Given the description of an element on the screen output the (x, y) to click on. 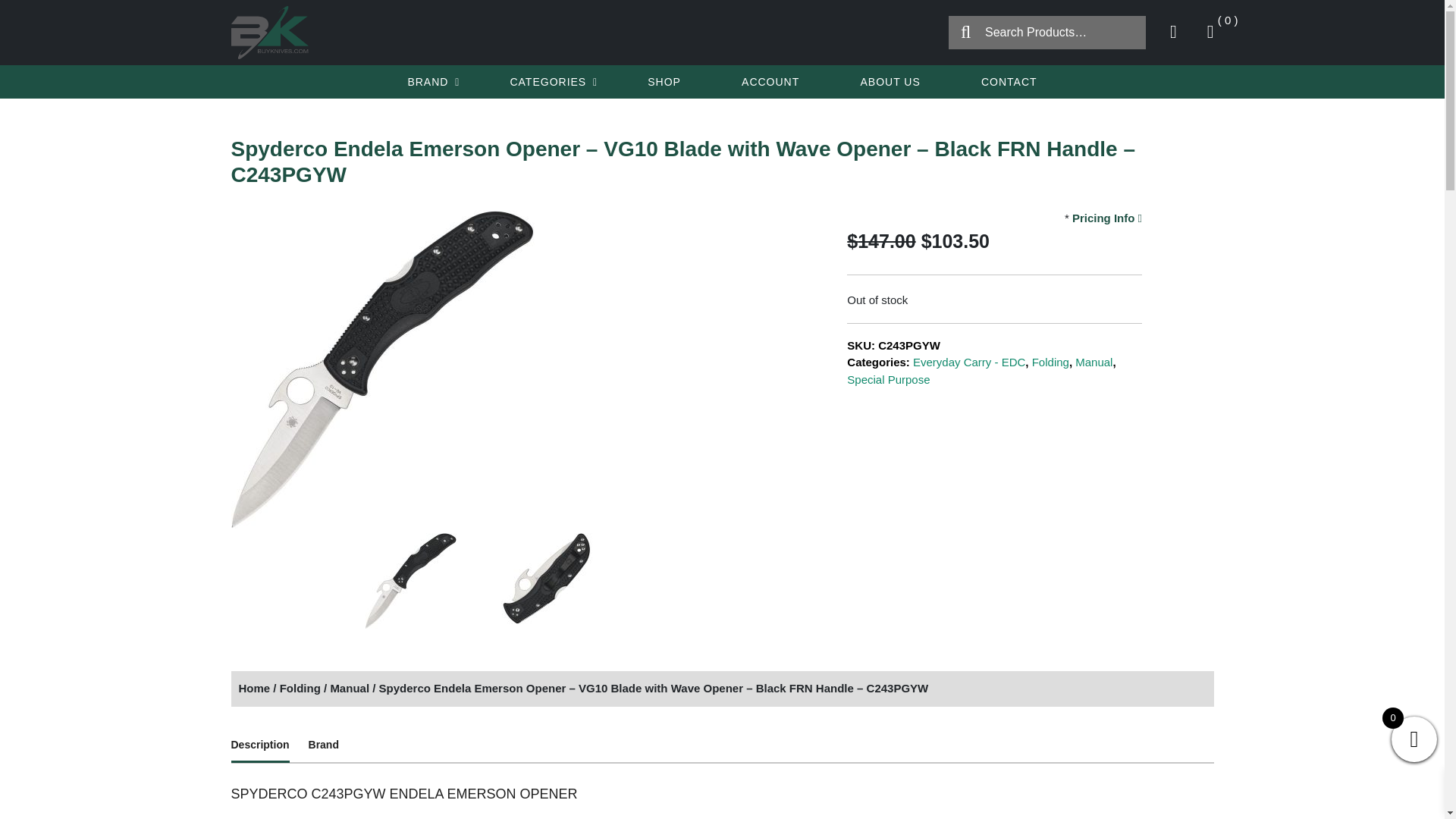
Search for: (1047, 32)
BRAND (429, 81)
CATEGORIES (549, 81)
